Given the description of an element on the screen output the (x, y) to click on. 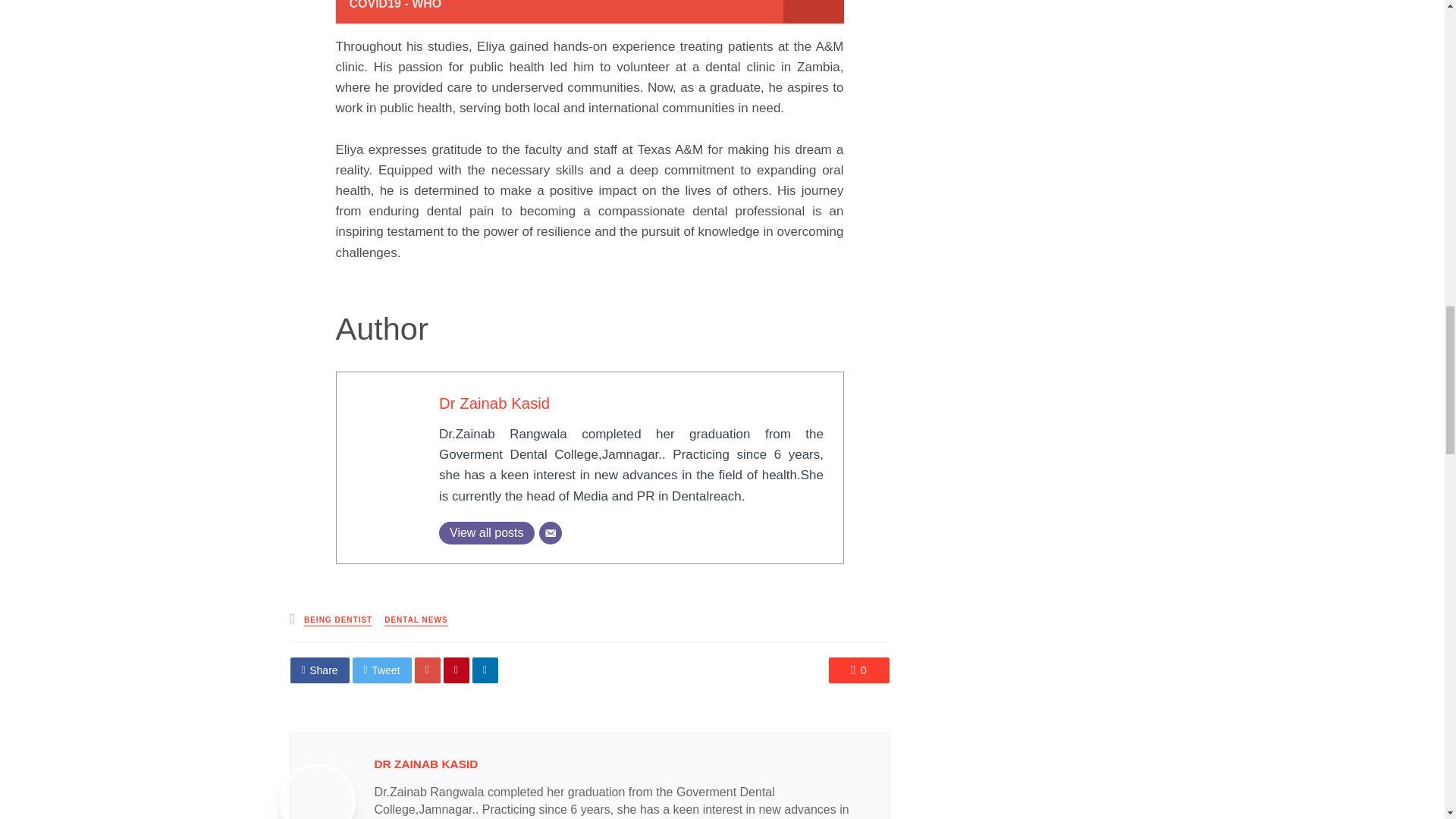
View all posts (486, 532)
Share on Twitter (382, 670)
Share on Facebook (319, 670)
Dr Zainab Kasid (494, 402)
